Given the description of an element on the screen output the (x, y) to click on. 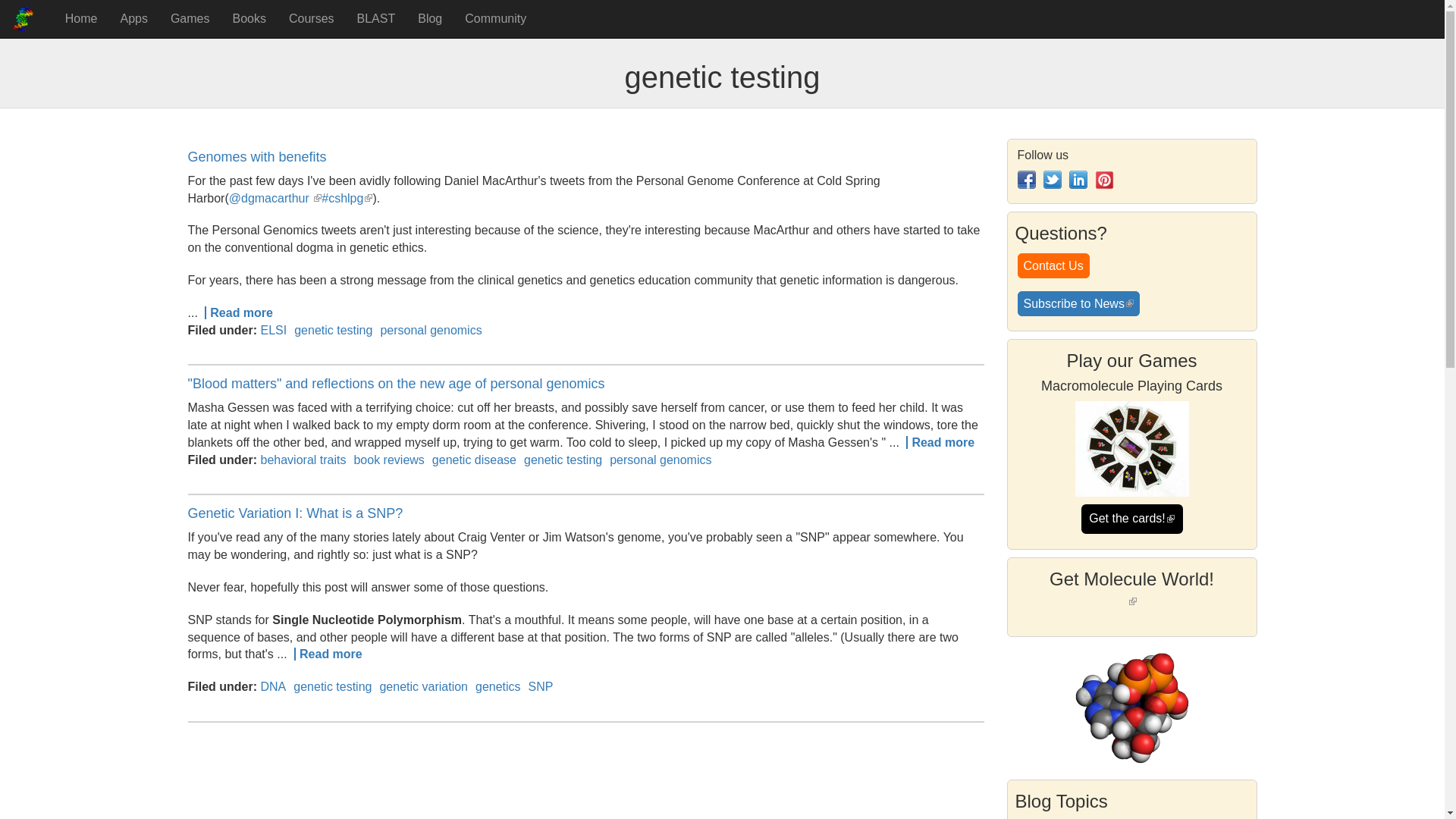
genetic testing (563, 459)
Community (494, 18)
BLAST (376, 18)
Digital World Biology: Macromolecule Playing Cards (1132, 448)
Read more (328, 653)
Blog (429, 18)
Contact Us (1053, 265)
personal genomics (660, 459)
genetic testing (332, 686)
Courses (312, 18)
Home (26, 18)
Books (249, 18)
Home (81, 18)
Read more (239, 312)
genetic disease (474, 459)
